Given the description of an element on the screen output the (x, y) to click on. 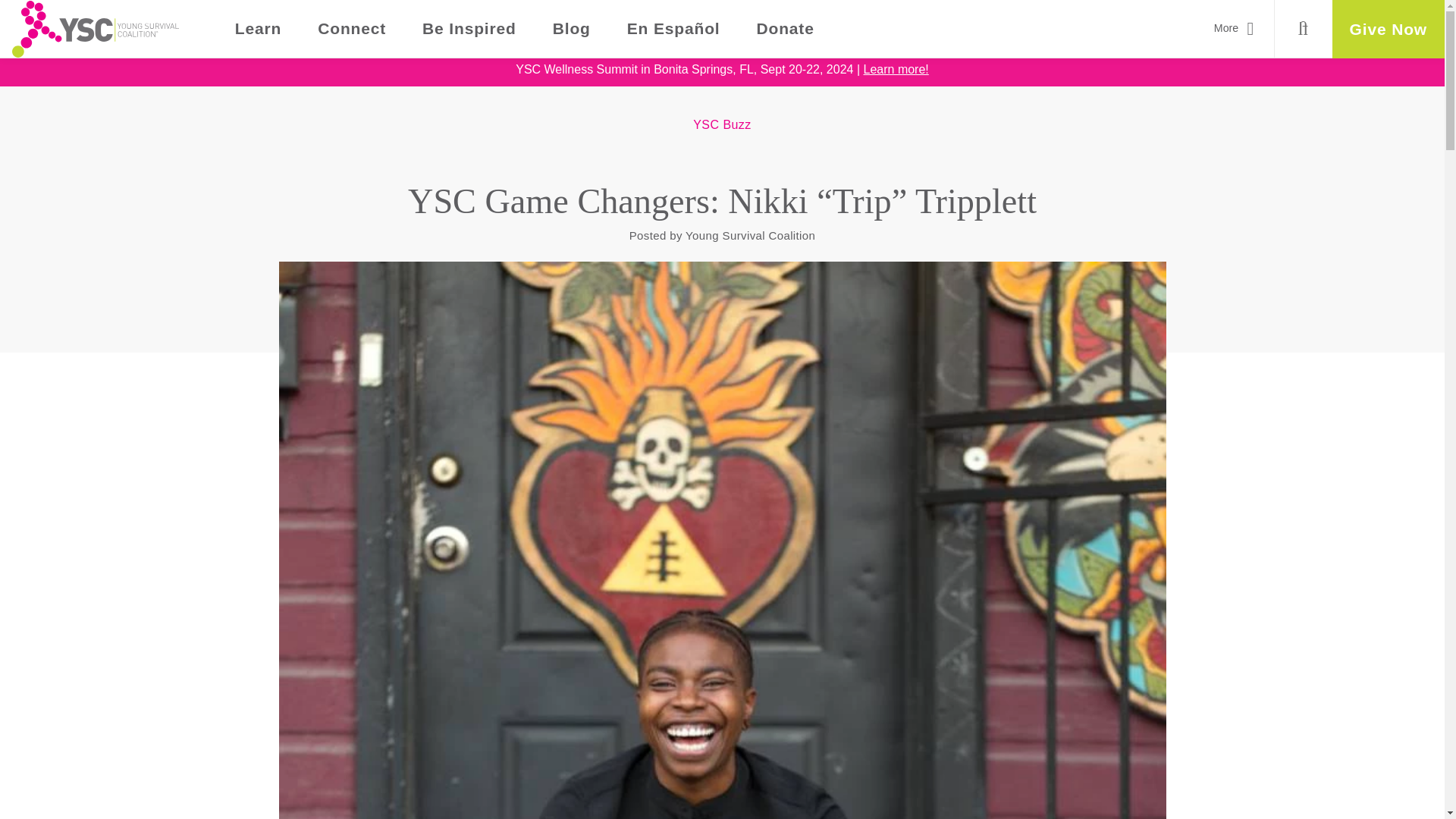
Connect (351, 28)
Search (1303, 29)
YSC Buzz (722, 124)
Learn (257, 28)
